Given the description of an element on the screen output the (x, y) to click on. 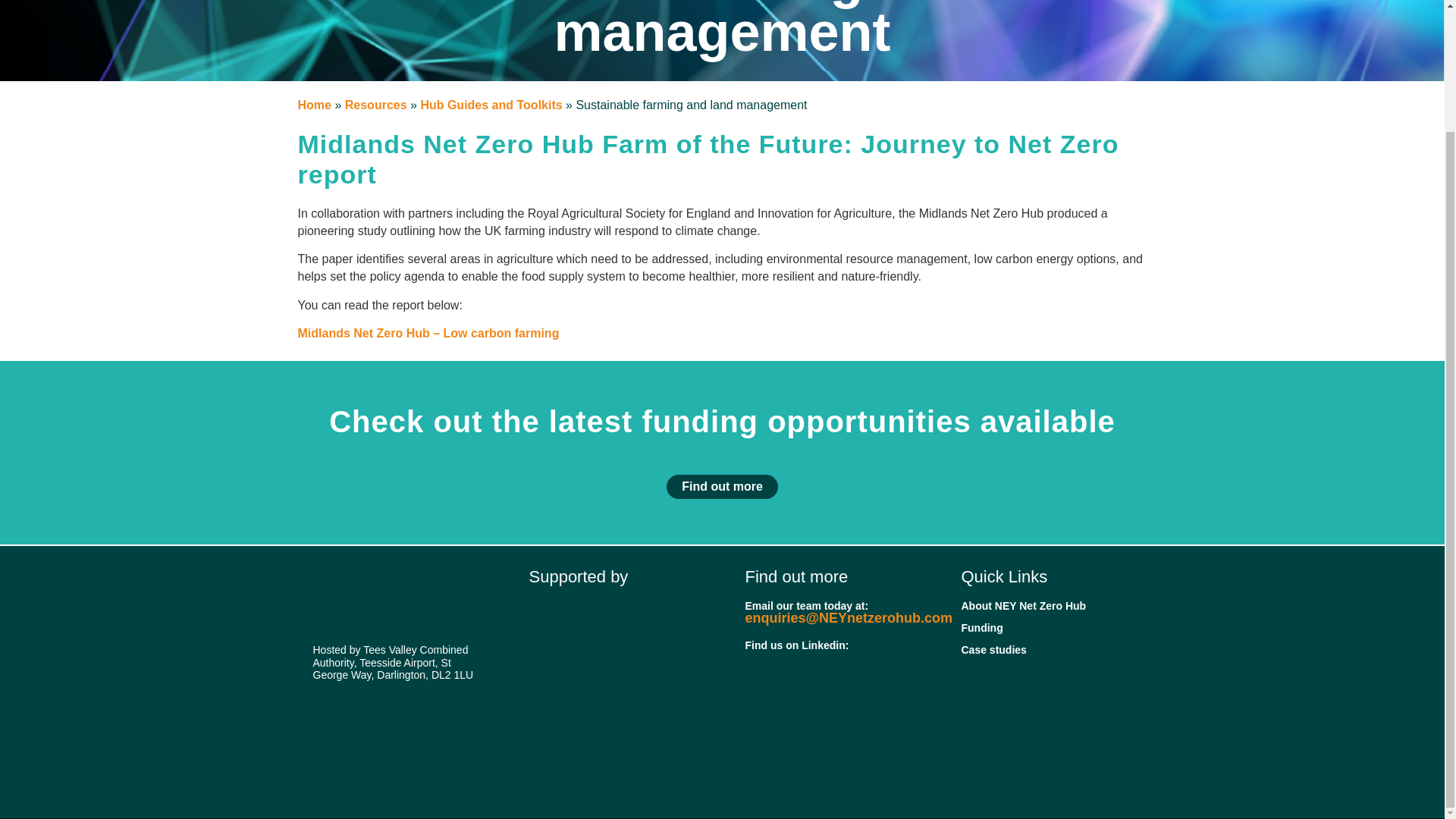
Home (313, 104)
Resources (376, 104)
Hub Guides and Toolkits (491, 104)
